Given the description of an element on the screen output the (x, y) to click on. 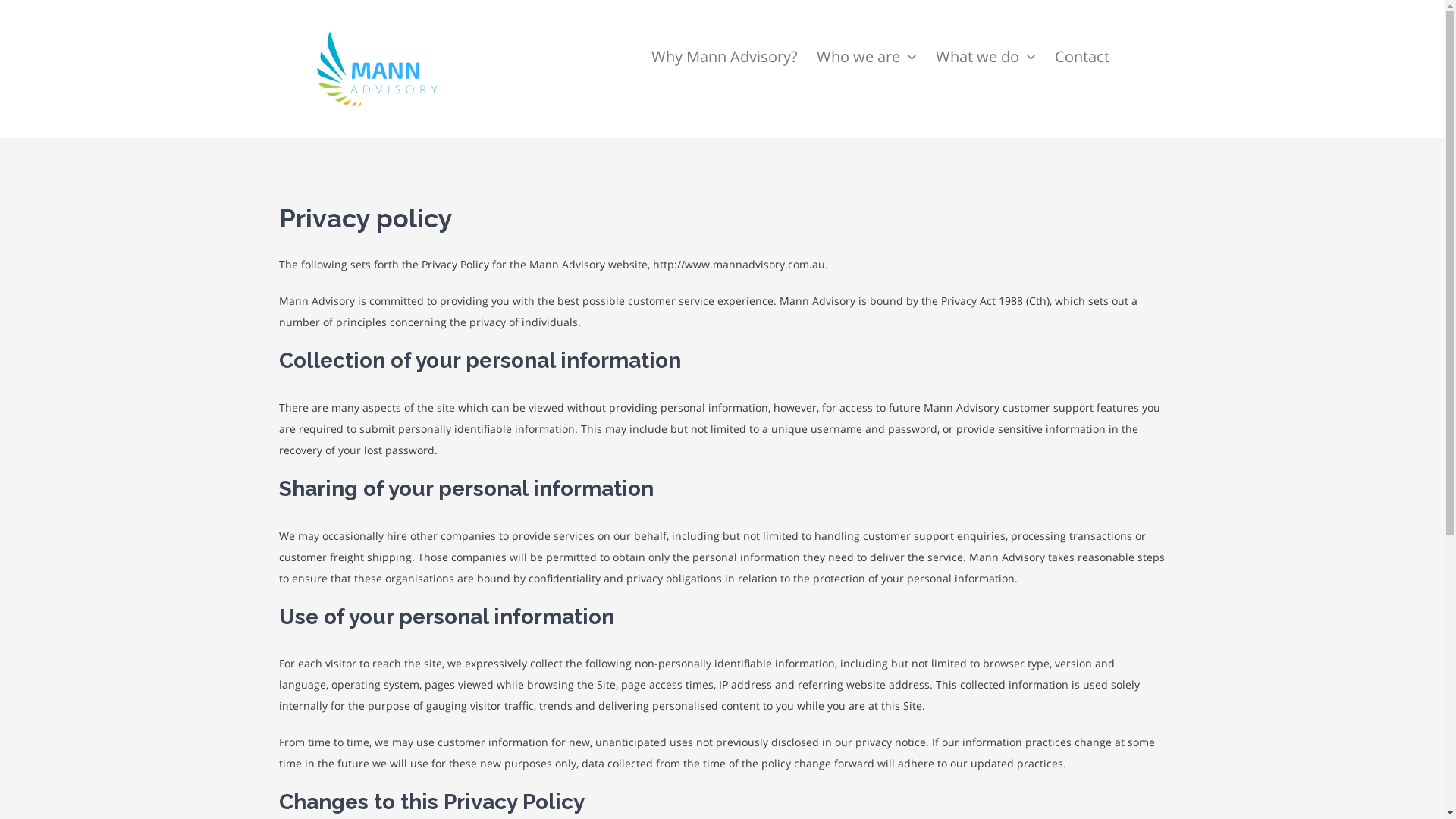
Who we are Element type: text (865, 38)
Why Mann Advisory? Element type: text (723, 38)
What we do Element type: text (985, 38)
Contact Element type: text (1081, 38)
